Given the description of an element on the screen output the (x, y) to click on. 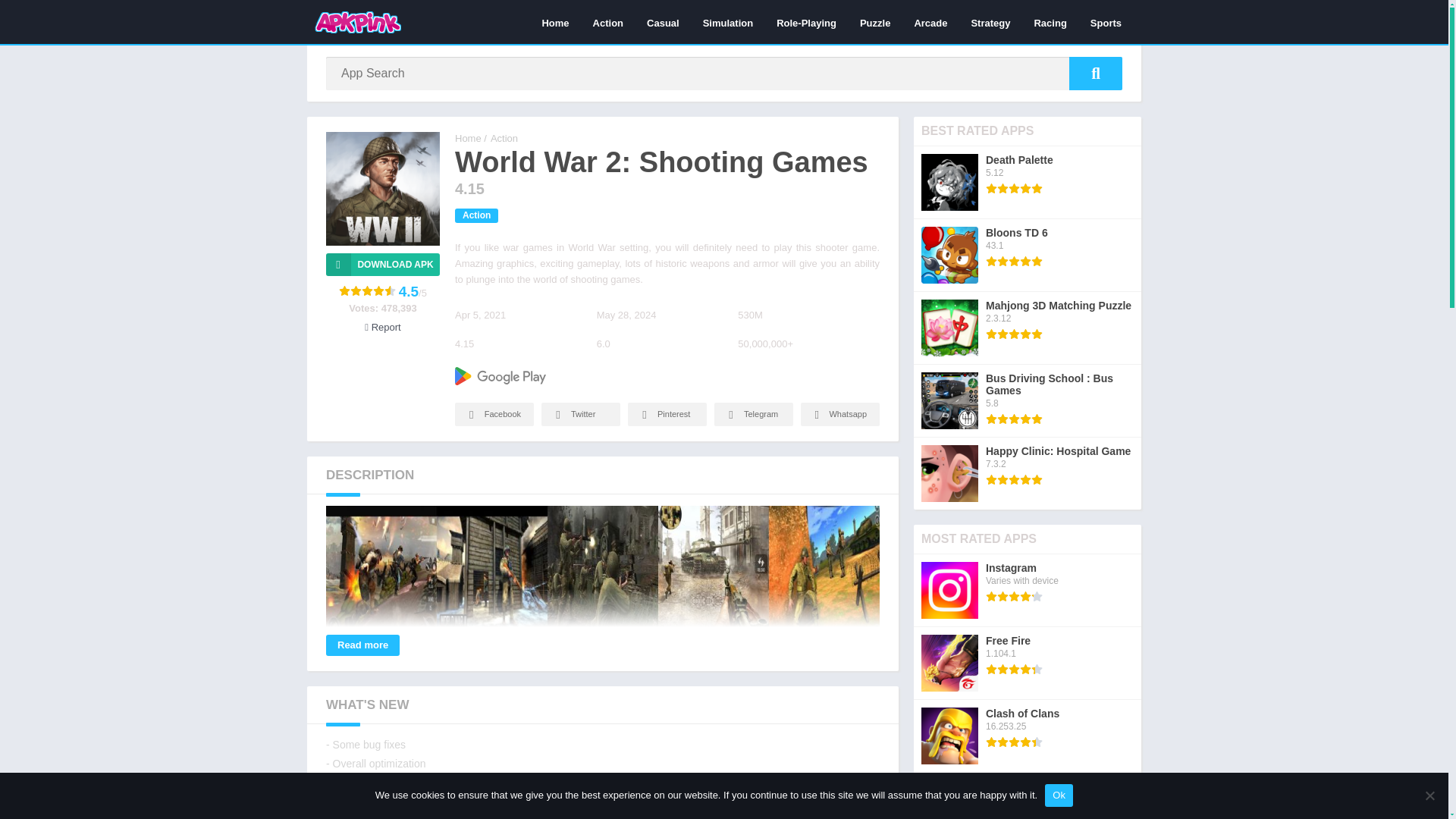
Simulation (727, 22)
DOWNLOAD APK (382, 264)
Download APK (382, 264)
Telegram (753, 413)
Twitter (580, 413)
Sports (1105, 22)
Puzzle (874, 22)
Racing (1049, 22)
Casual (662, 22)
Role-Playing (806, 22)
Arcade (930, 22)
Pinterest (666, 413)
Action (607, 22)
Action (504, 138)
Facebook (494, 413)
